Given the description of an element on the screen output the (x, y) to click on. 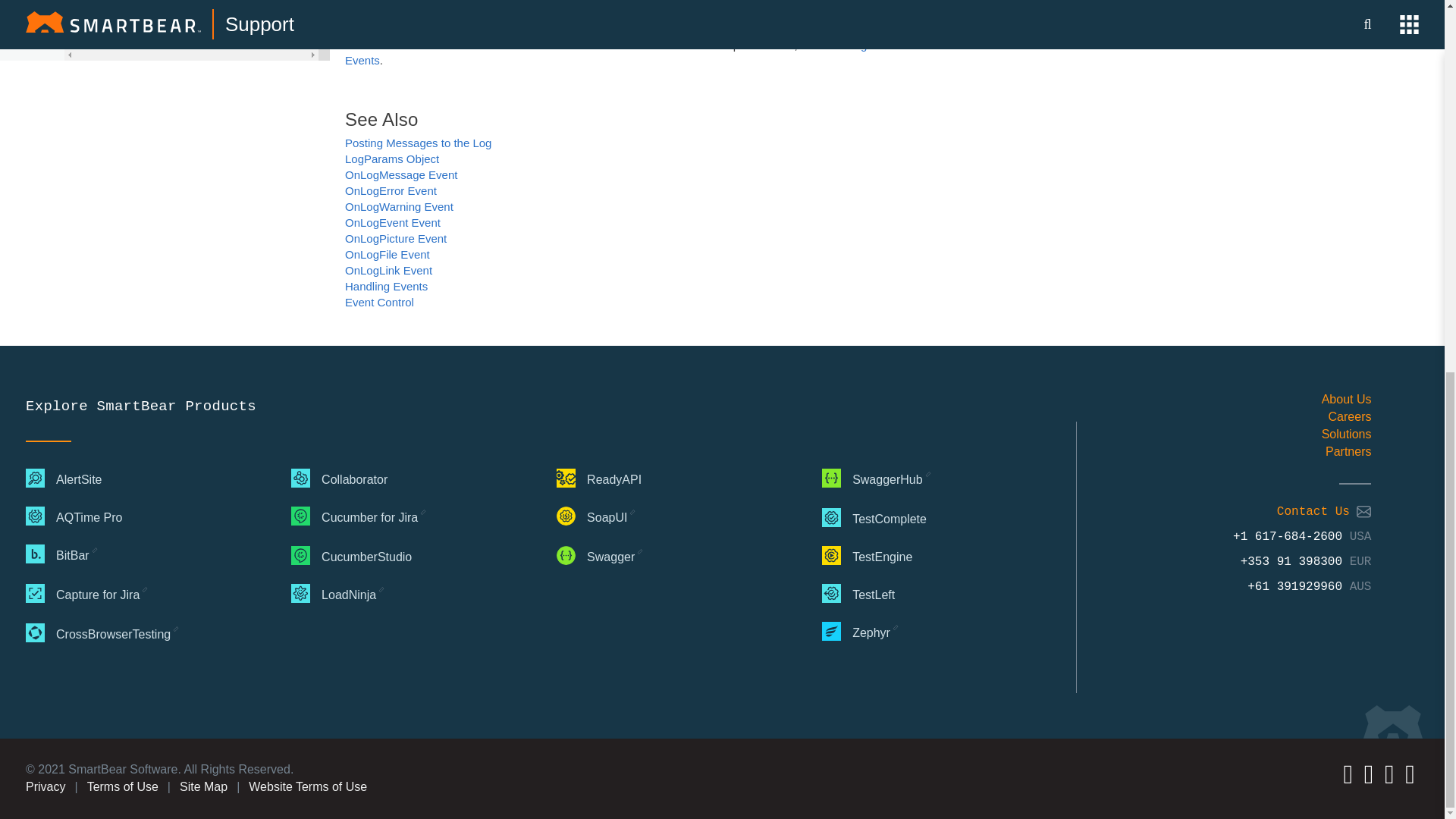
Posting Messages to the Log (418, 142)
LogParams Object (392, 158)
Handling Events (605, 52)
OnLogMessage Event (401, 174)
